Given the description of an element on the screen output the (x, y) to click on. 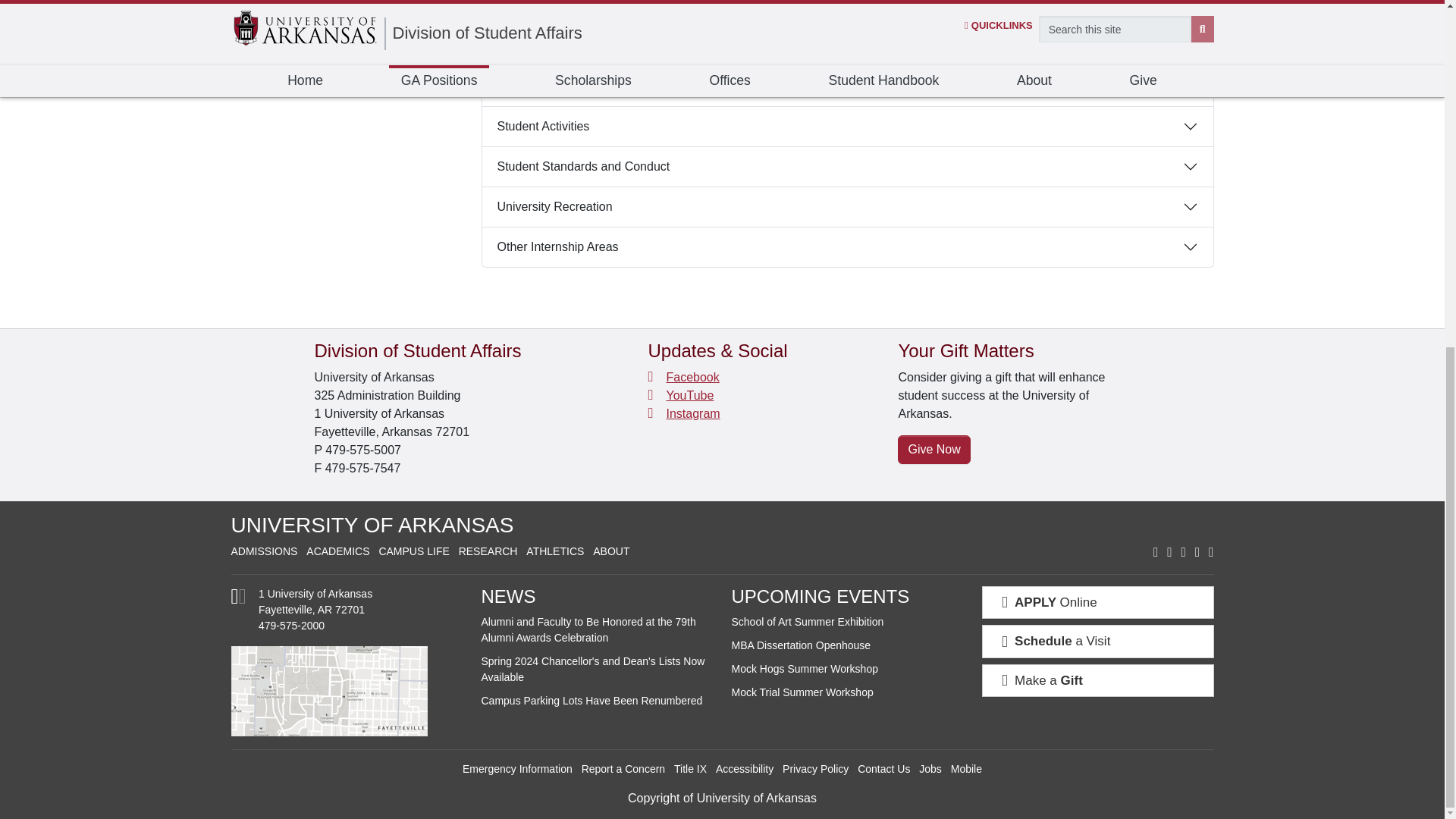
University of Arkansas Research (488, 551)
University of Arkansas Home Page (371, 525)
University of Arkansas Admissions (263, 551)
University of Arkansas Academics (337, 551)
Campus Life at the University of Arkansas (413, 551)
